Given the description of an element on the screen output the (x, y) to click on. 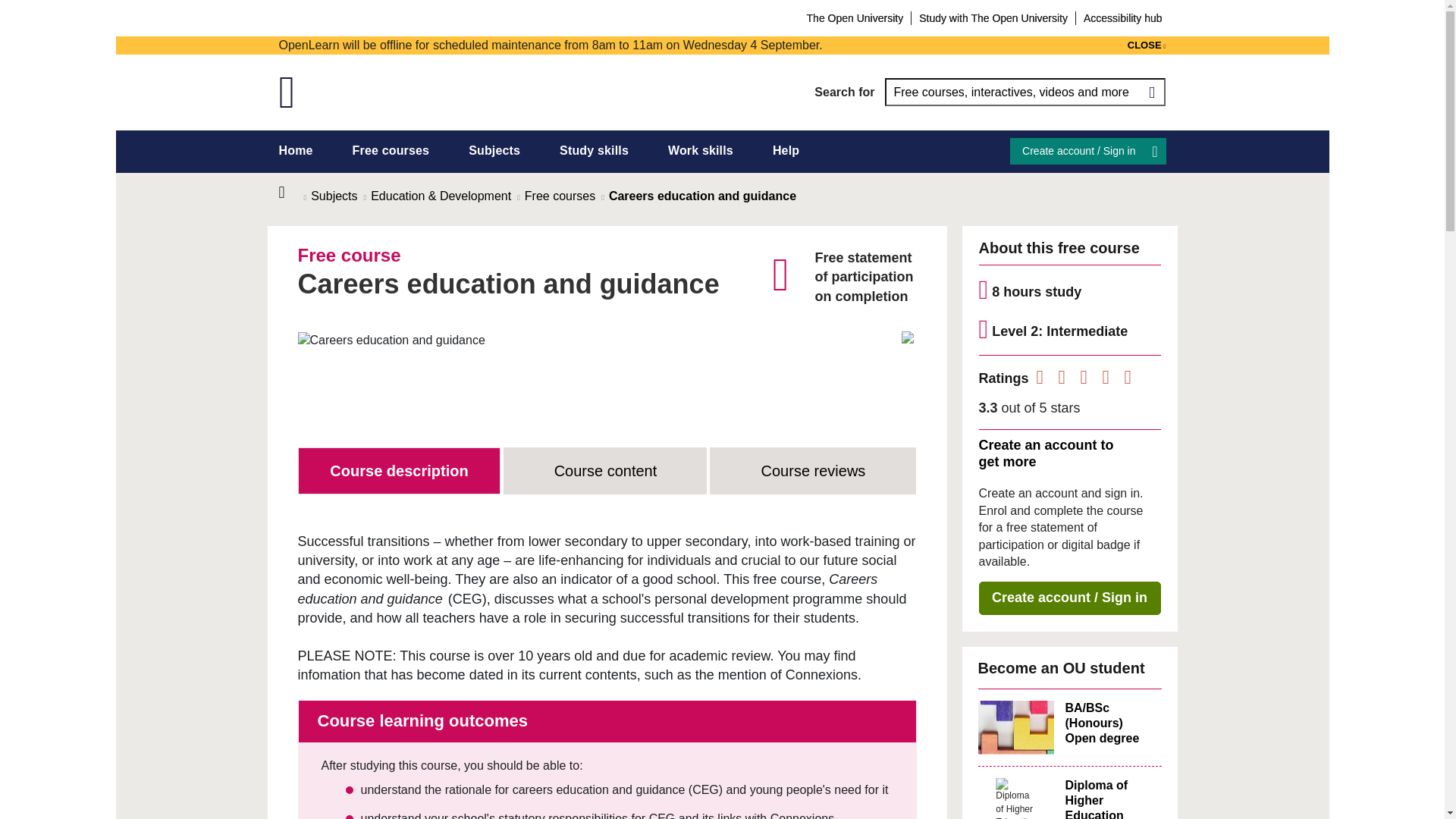
Home (296, 150)
Search (1151, 91)
Careers education and guidance (390, 340)
CLOSE (1146, 45)
Course reviews (812, 470)
Home (291, 193)
Study skills (593, 150)
Study with The Open University (993, 17)
Course content (604, 470)
The Open University (855, 17)
